Given the description of an element on the screen output the (x, y) to click on. 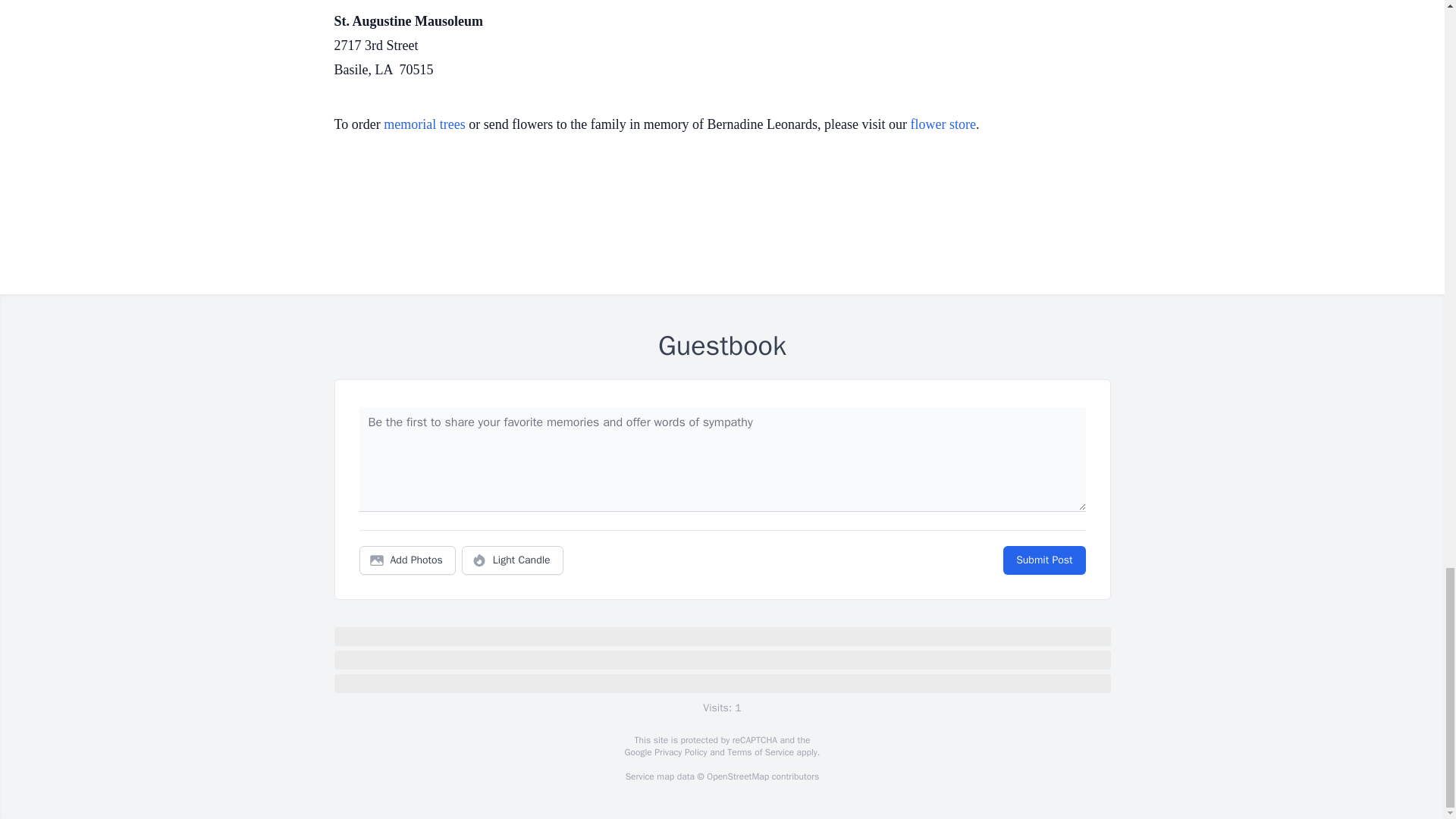
Privacy Policy (679, 752)
memorial trees (424, 124)
flower store (943, 124)
Light Candle (512, 560)
Submit Post (1043, 560)
Add Photos (407, 560)
OpenStreetMap (737, 776)
Terms of Service (759, 752)
